Given the description of an element on the screen output the (x, y) to click on. 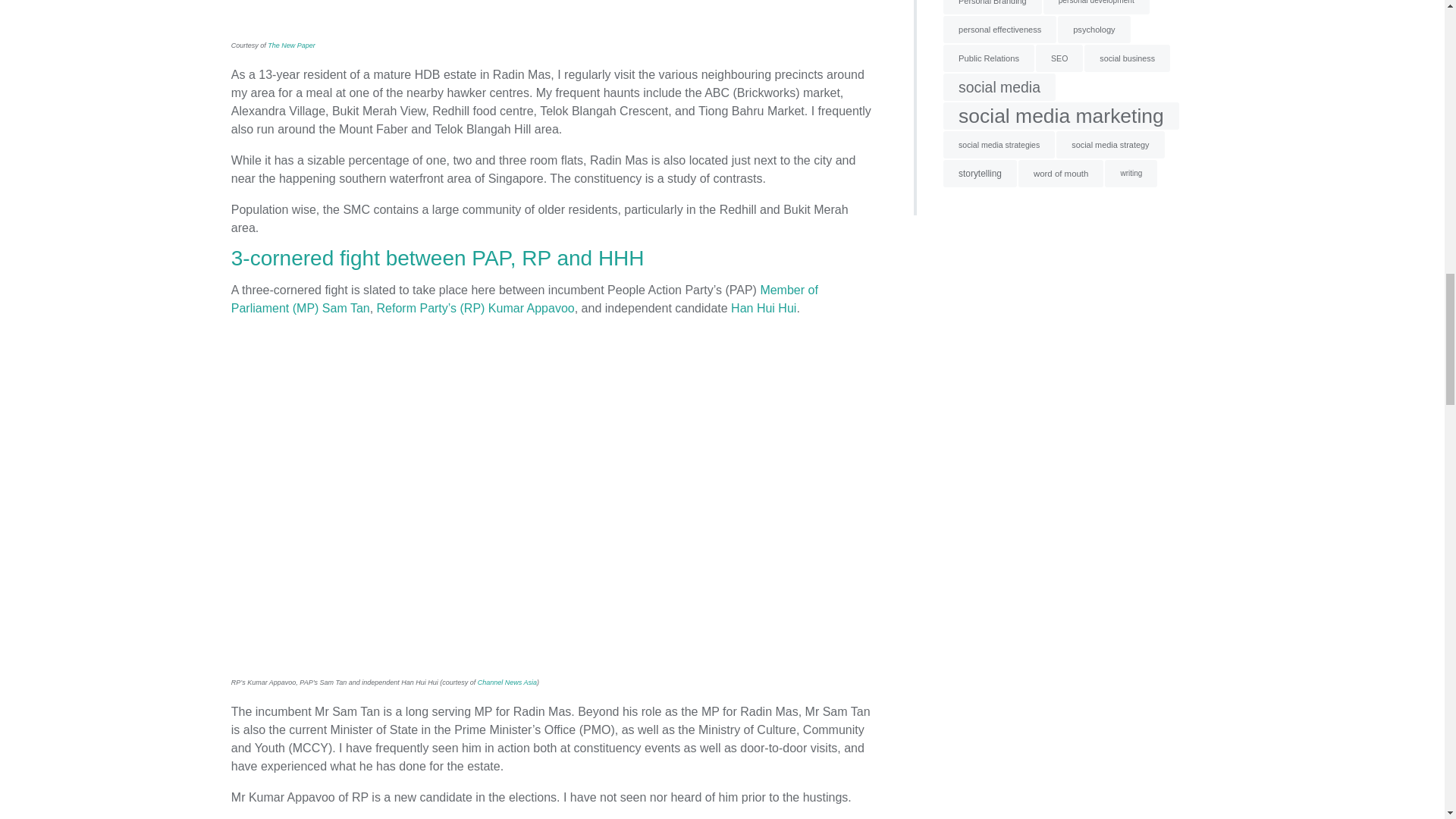
Channel News Asia (507, 682)
Han Hui Hui (763, 308)
The New Paper (291, 45)
